Given the description of an element on the screen output the (x, y) to click on. 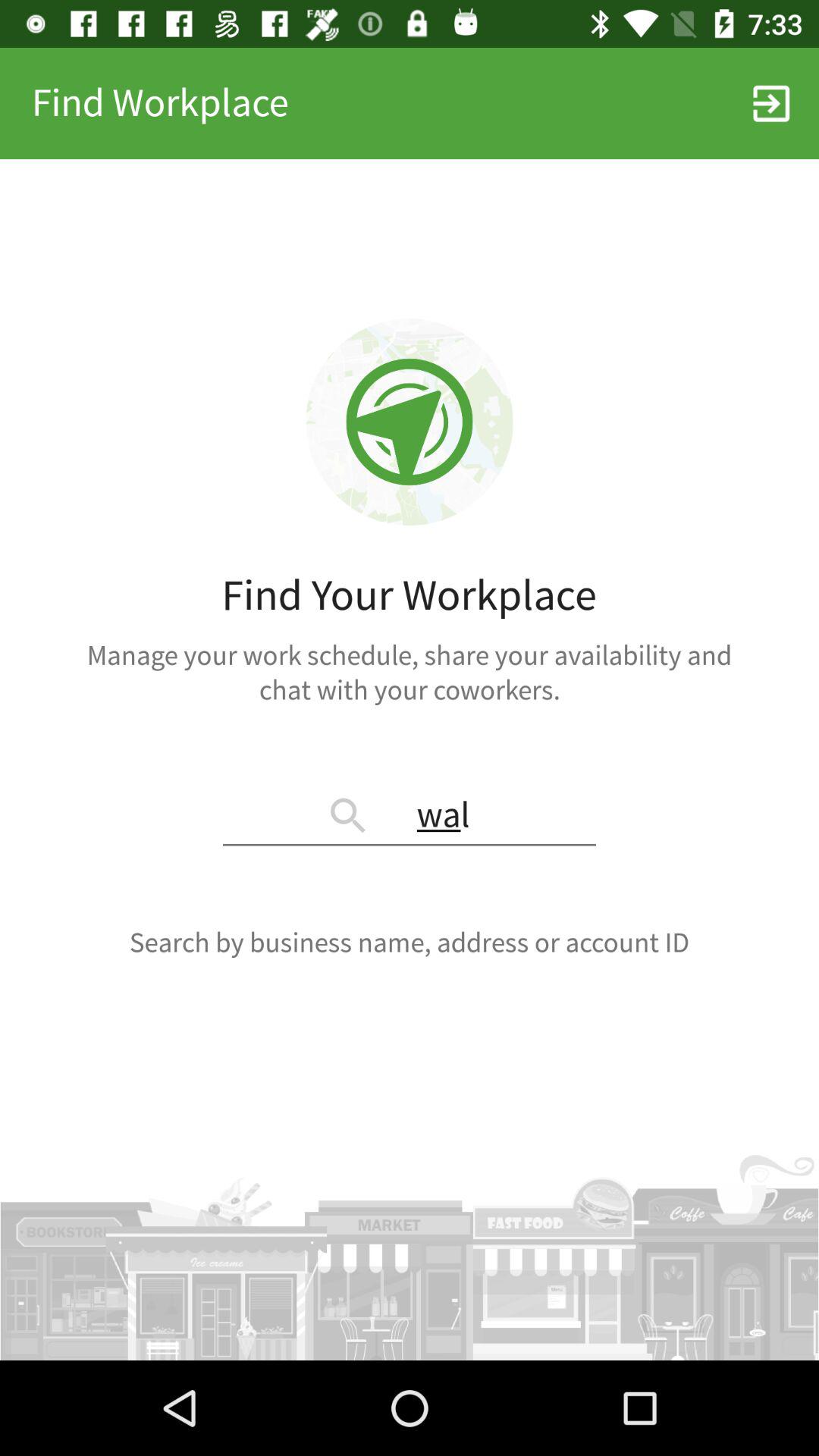
scroll until wal item (409, 816)
